Given the description of an element on the screen output the (x, y) to click on. 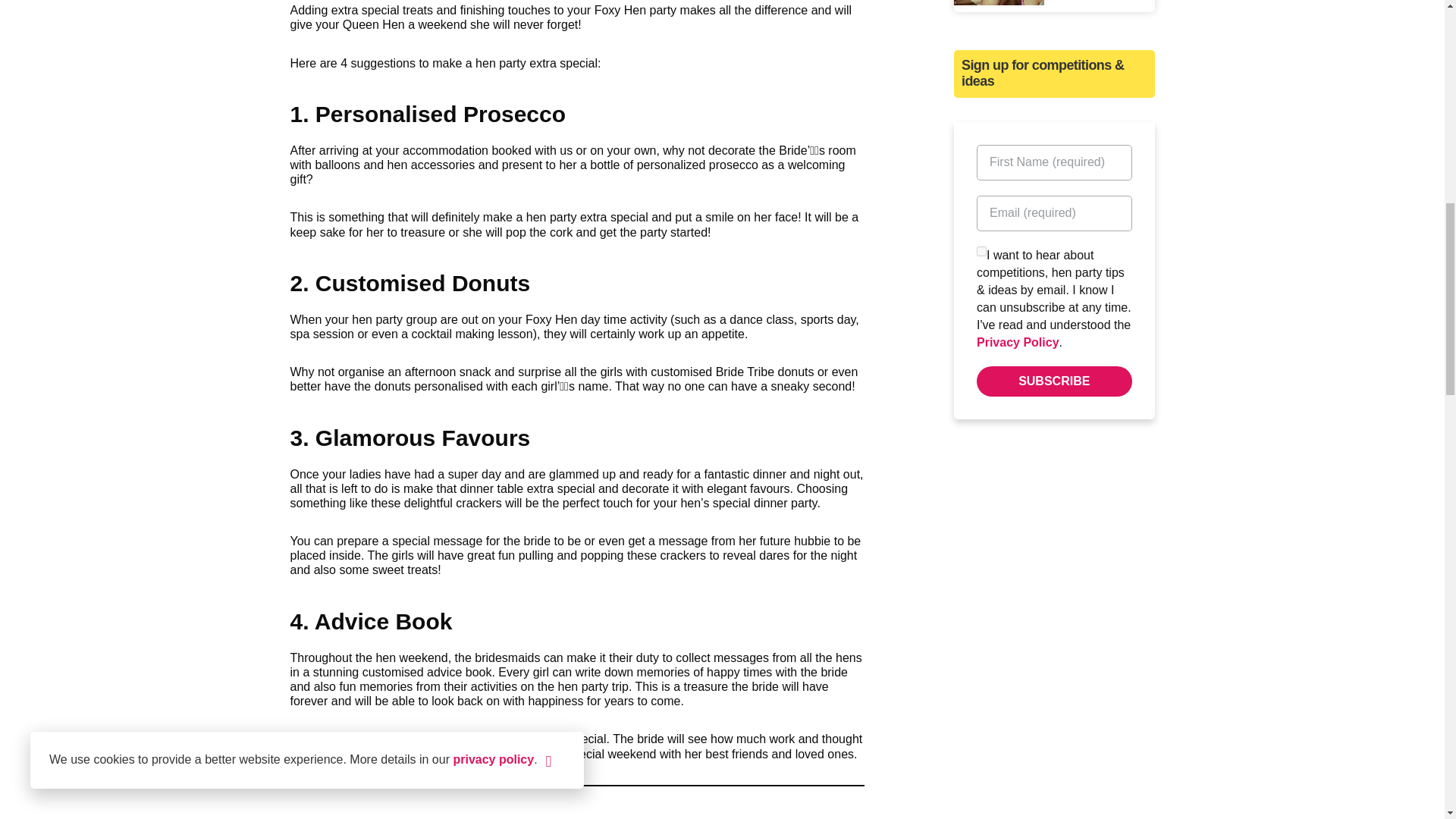
on (981, 251)
